Given the description of an element on the screen output the (x, y) to click on. 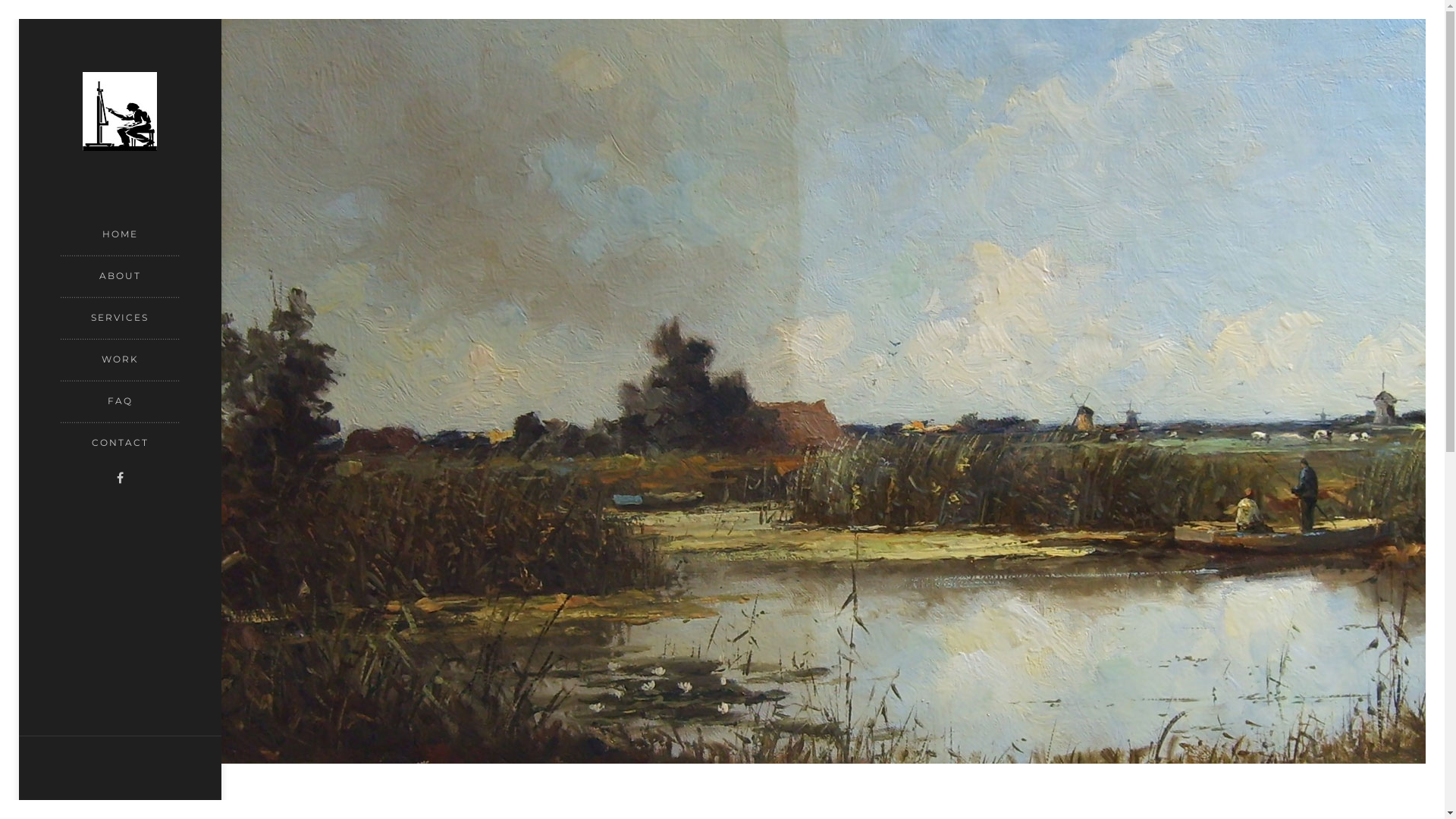
FAQ Element type: text (119, 402)
SERVICES Element type: text (119, 319)
CONTACT Element type: text (119, 438)
WORK Element type: text (119, 361)
ABOUT Element type: text (119, 277)
HOME Element type: text (119, 236)
